Given the description of an element on the screen output the (x, y) to click on. 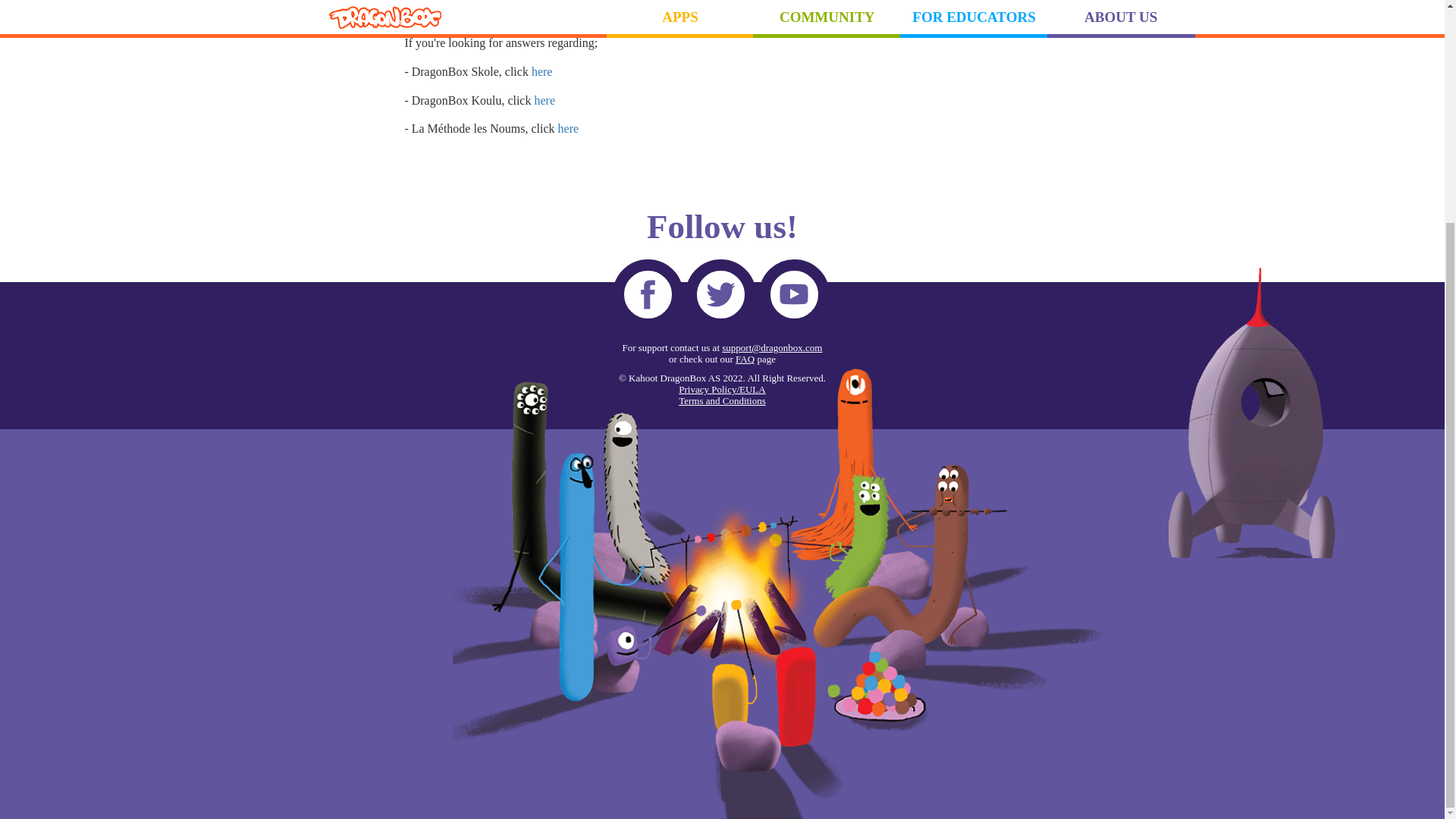
here (568, 128)
here (542, 71)
here (544, 100)
